Given the description of an element on the screen output the (x, y) to click on. 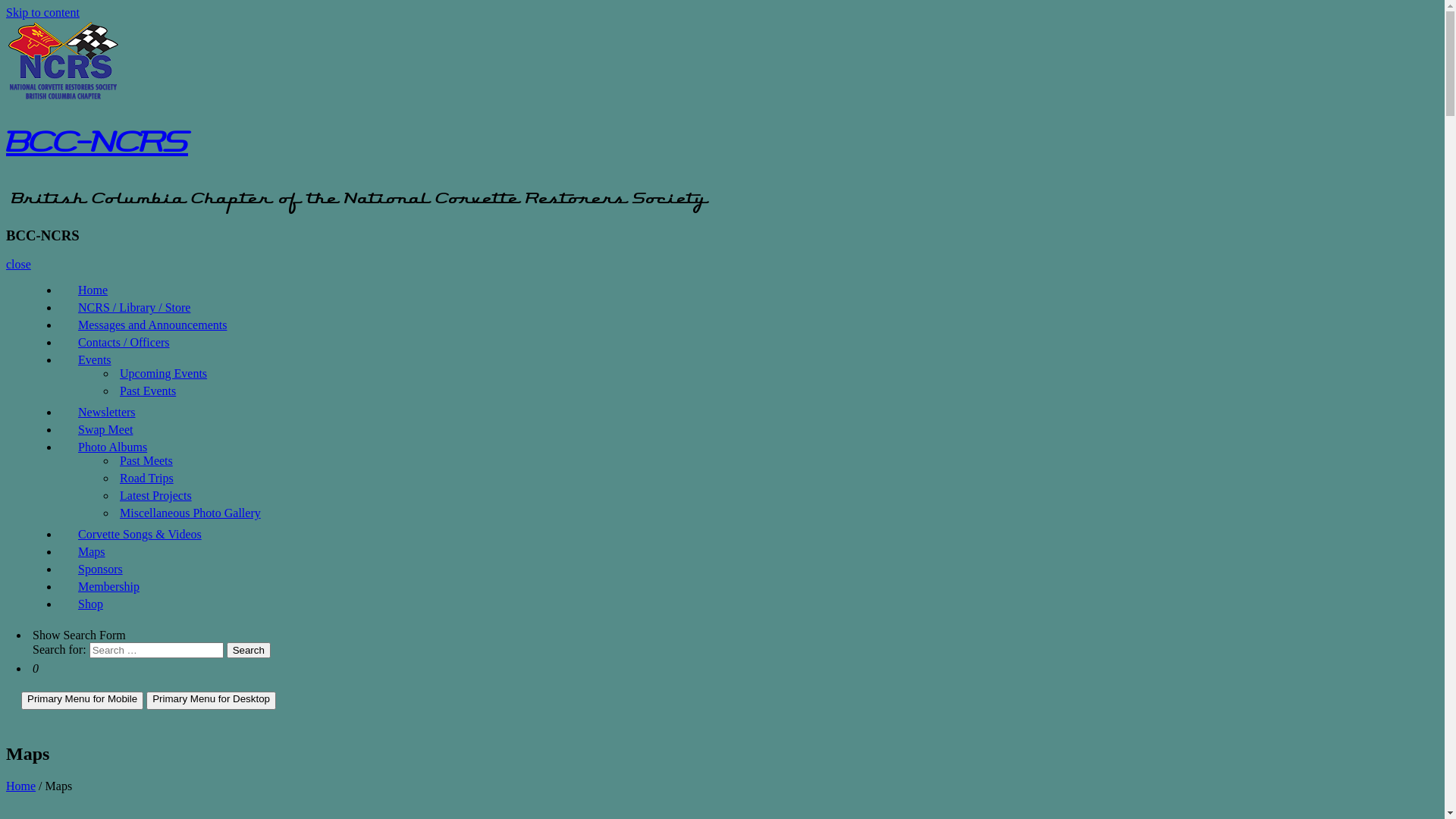
Miscellaneous Photo Gallery Element type: text (189, 512)
Sponsors Element type: text (100, 568)
Photo Albums Element type: text (112, 446)
Shop Element type: text (90, 603)
Past Events Element type: text (147, 390)
Contacts / Officers Element type: text (123, 342)
Events Element type: text (94, 359)
Past Meets Element type: text (145, 460)
BCC-NCRS Element type: text (97, 147)
Latest Projects Element type: text (155, 495)
Skip to content Element type: text (42, 12)
Membership Element type: text (108, 586)
Messages and Announcements Element type: text (151, 324)
Upcoming Events Element type: text (163, 373)
close Element type: text (18, 263)
Newsletters Element type: text (106, 411)
Home Element type: text (20, 785)
Road Trips Element type: text (146, 477)
Primary Menu for Desktop Element type: text (211, 700)
NCRS / Library / Store Element type: text (133, 307)
Search Element type: text (248, 650)
Home Element type: text (92, 289)
Swap Meet Element type: text (104, 429)
Corvette Songs & Videos Element type: text (139, 533)
Maps Element type: text (91, 551)
Primary Menu for Mobile Element type: text (82, 700)
